Given the description of an element on the screen output the (x, y) to click on. 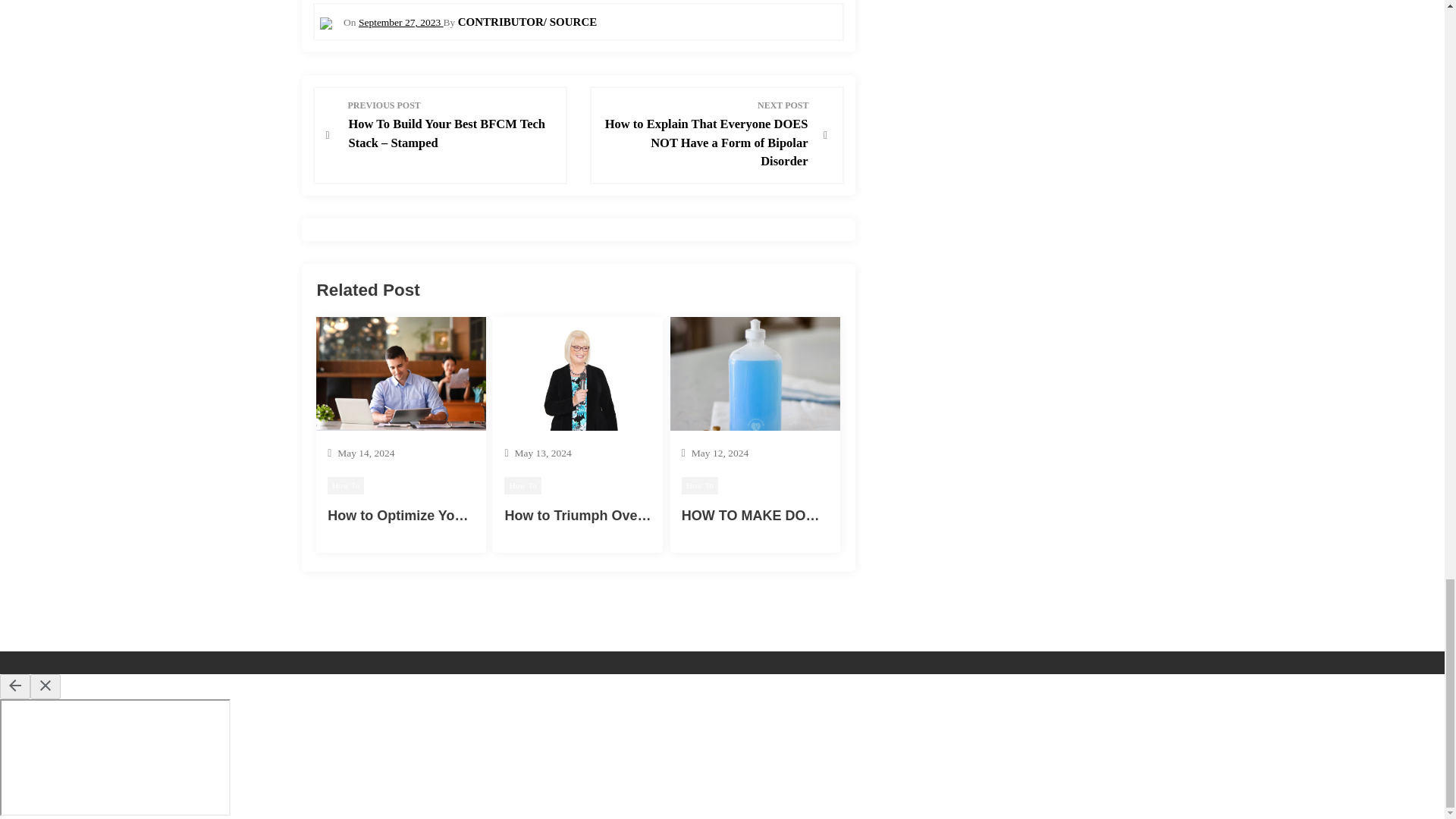
September 27, 2023 (401, 21)
